Given the description of an element on the screen output the (x, y) to click on. 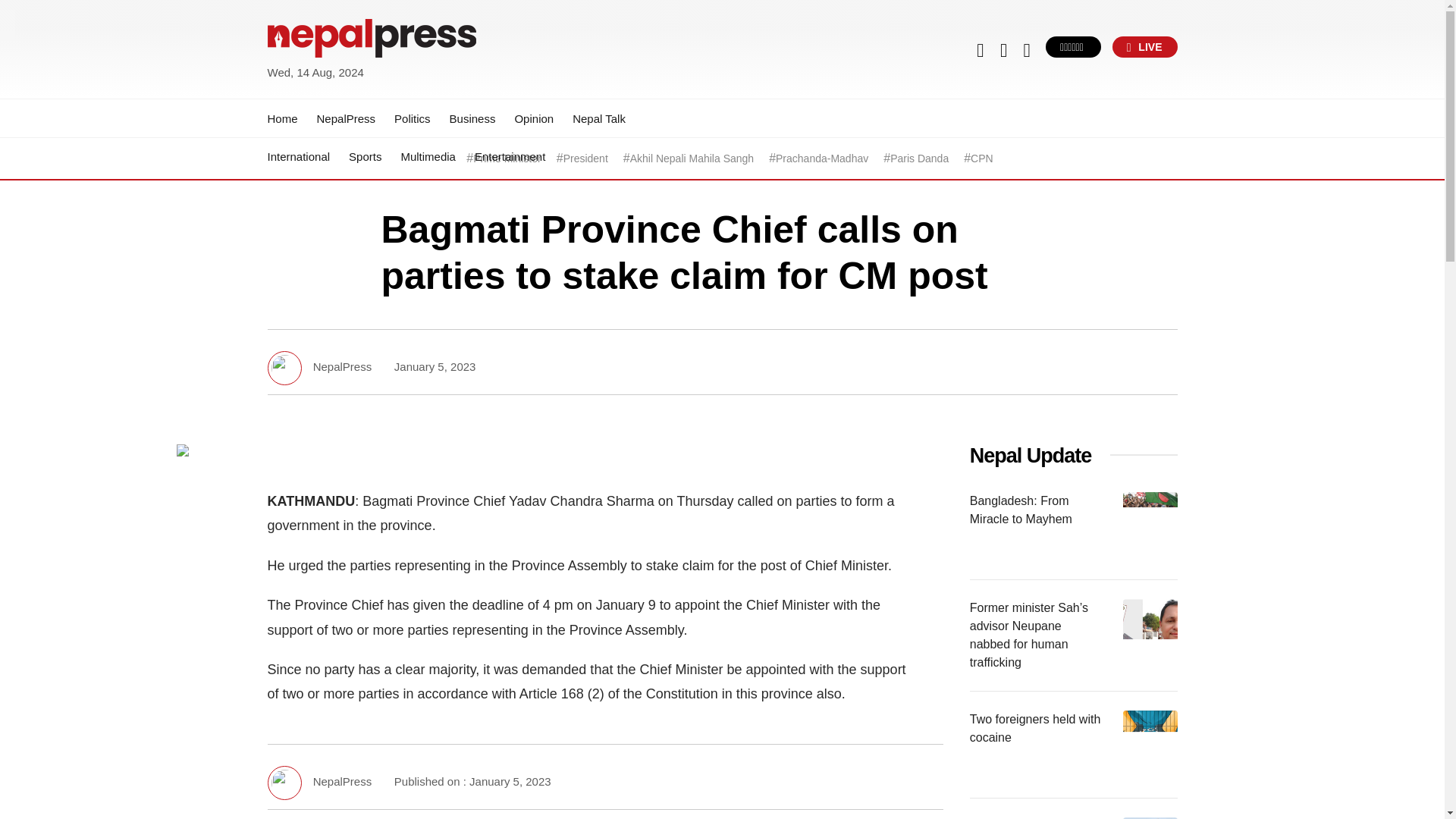
CPN (981, 158)
Paris Danda (919, 158)
President (585, 158)
Paris Danda (919, 158)
Politics (412, 118)
International (298, 156)
Prachanda-Madhav (821, 158)
Prachanda-Madhav (821, 158)
Opinion (533, 118)
Prime Minister (506, 158)
